Given the description of an element on the screen output the (x, y) to click on. 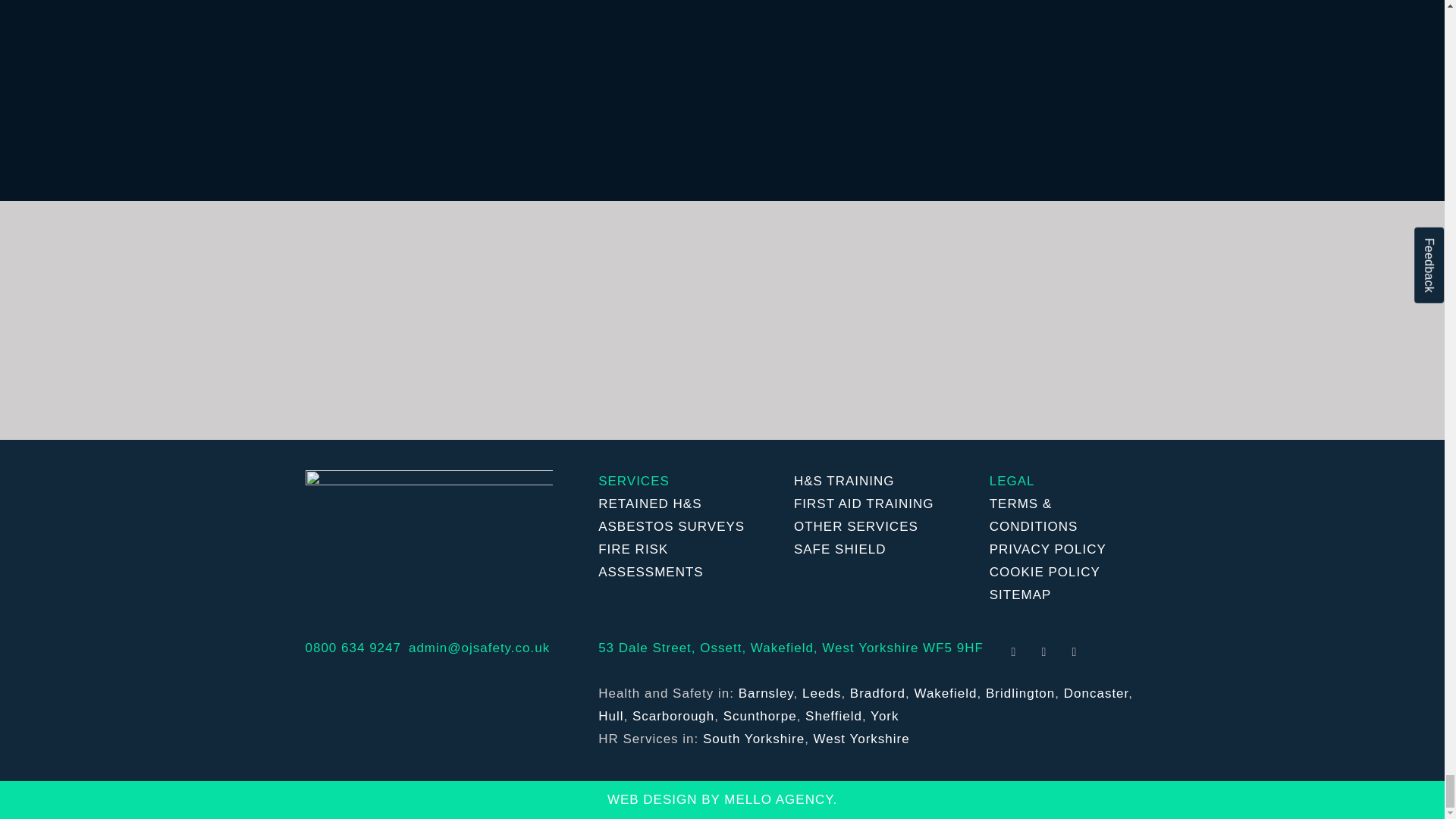
LinkedIn (1074, 652)
Twitter (1044, 652)
Facebook (1013, 652)
